Given the description of an element on the screen output the (x, y) to click on. 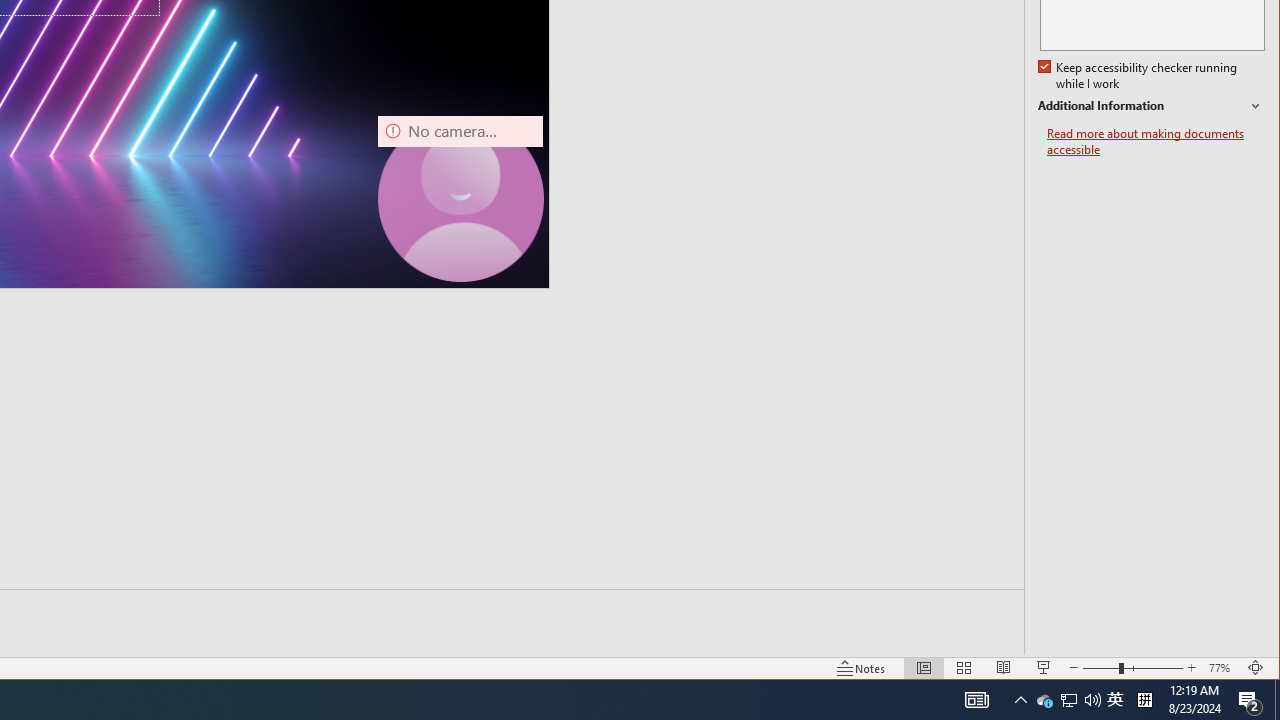
Read more about making documents accessible (1155, 142)
Keep accessibility checker running while I work (1044, 699)
Zoom 77% (1139, 76)
Camera 7, No camera detected. (1222, 668)
Action Center, 2 new notifications (460, 197)
